Given the description of an element on the screen output the (x, y) to click on. 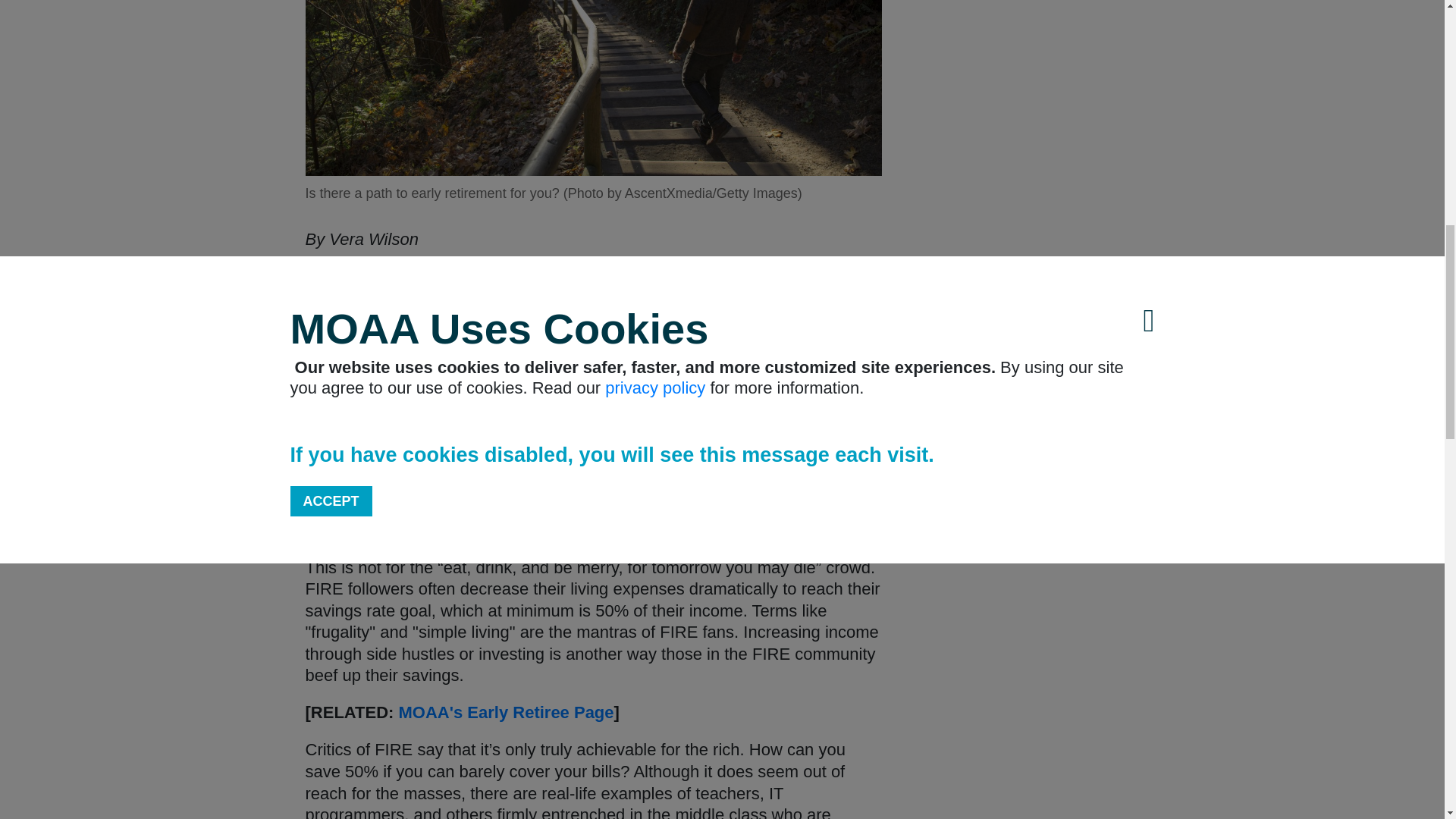
3rd party ad content (1030, 225)
